Given the description of an element on the screen output the (x, y) to click on. 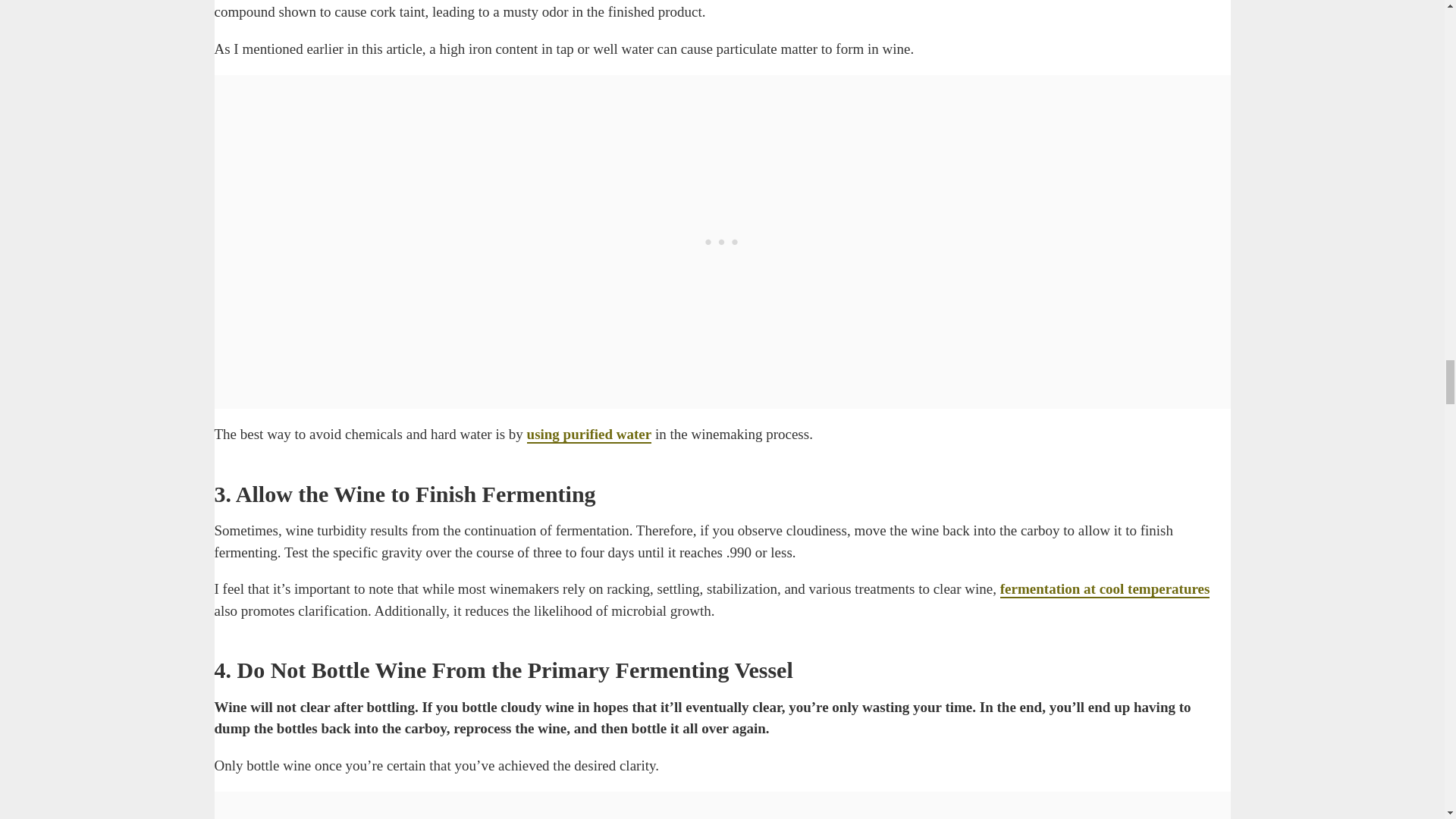
fermentation at cool temperatures (1104, 589)
using purified water (589, 434)
